Given the description of an element on the screen output the (x, y) to click on. 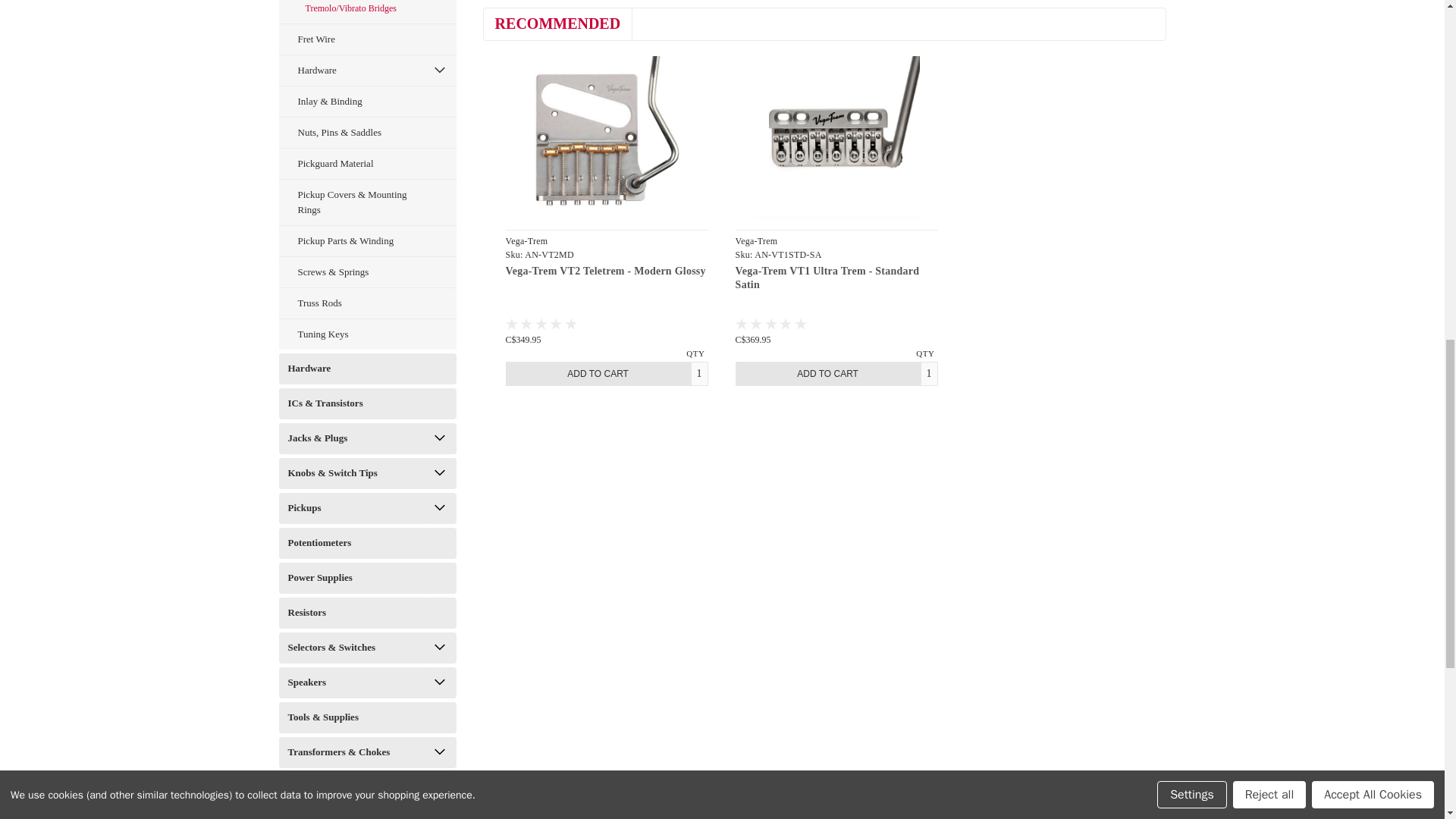
Vega-Trem VT2 Teletrem - Modern Glossy (606, 137)
Vega-Trem VT1 Ultra Trem - Standard Satin (836, 137)
